Given the description of an element on the screen output the (x, y) to click on. 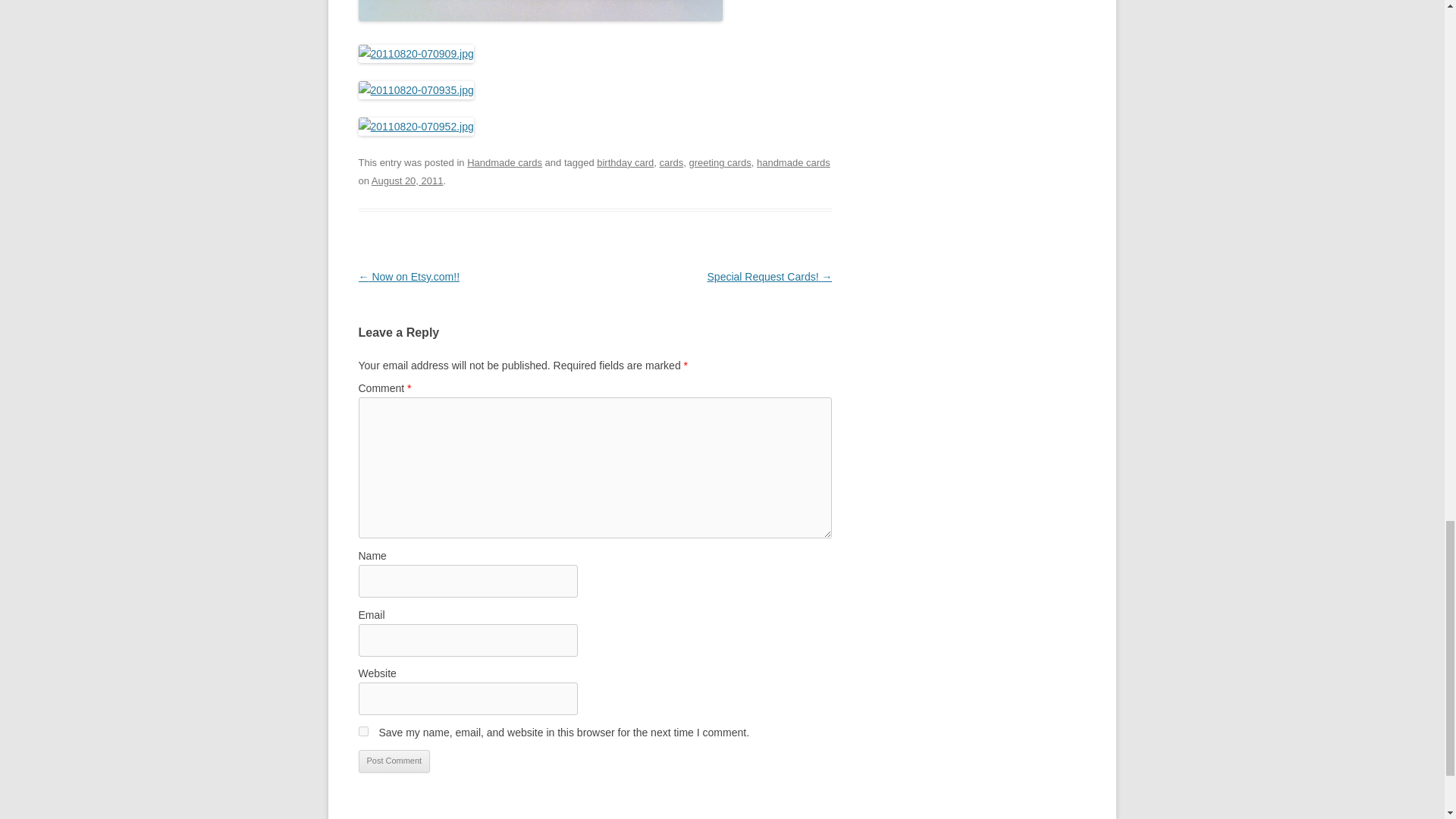
birthday card (624, 162)
yes (363, 731)
Post Comment (393, 761)
greeting cards (719, 162)
cards (671, 162)
7:13 am (407, 180)
Handmade cards (504, 162)
Post Comment (393, 761)
handmade cards (793, 162)
August 20, 2011 (407, 180)
